Given the description of an element on the screen output the (x, y) to click on. 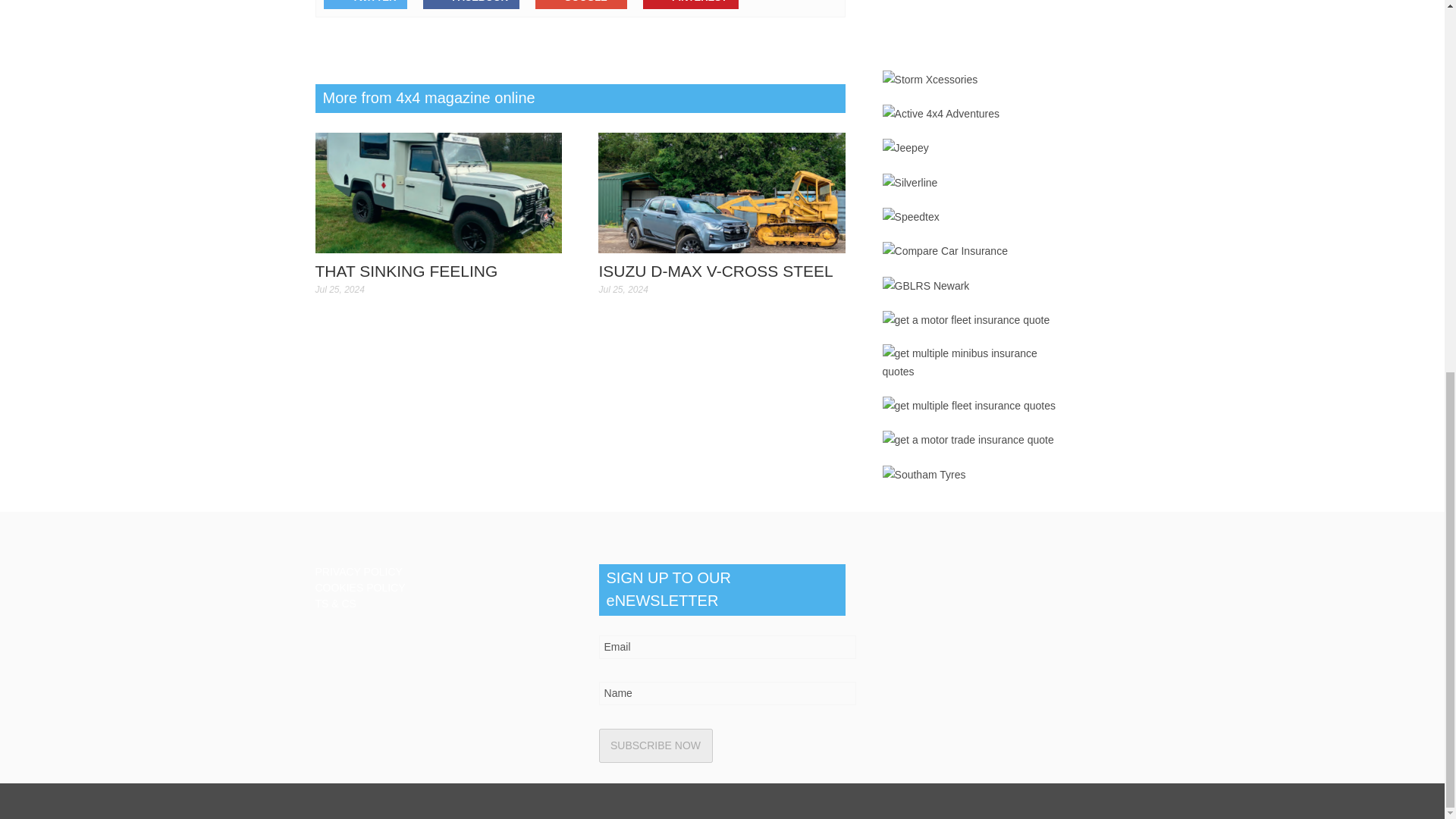
PINTEREST (690, 4)
Compare Car Insurance (944, 250)
ISUZU D-MAX V-CROSS STEEL (721, 192)
ISUZU D-MAX V-CROSS STEEL (721, 191)
Email (727, 647)
Speedtex (910, 217)
Active 4x4 Adventures (941, 113)
Money Comparison (974, 27)
ISUZU D-MAX V-CROSS STEEL (715, 271)
THAT SINKING FEELING (438, 191)
